Given the description of an element on the screen output the (x, y) to click on. 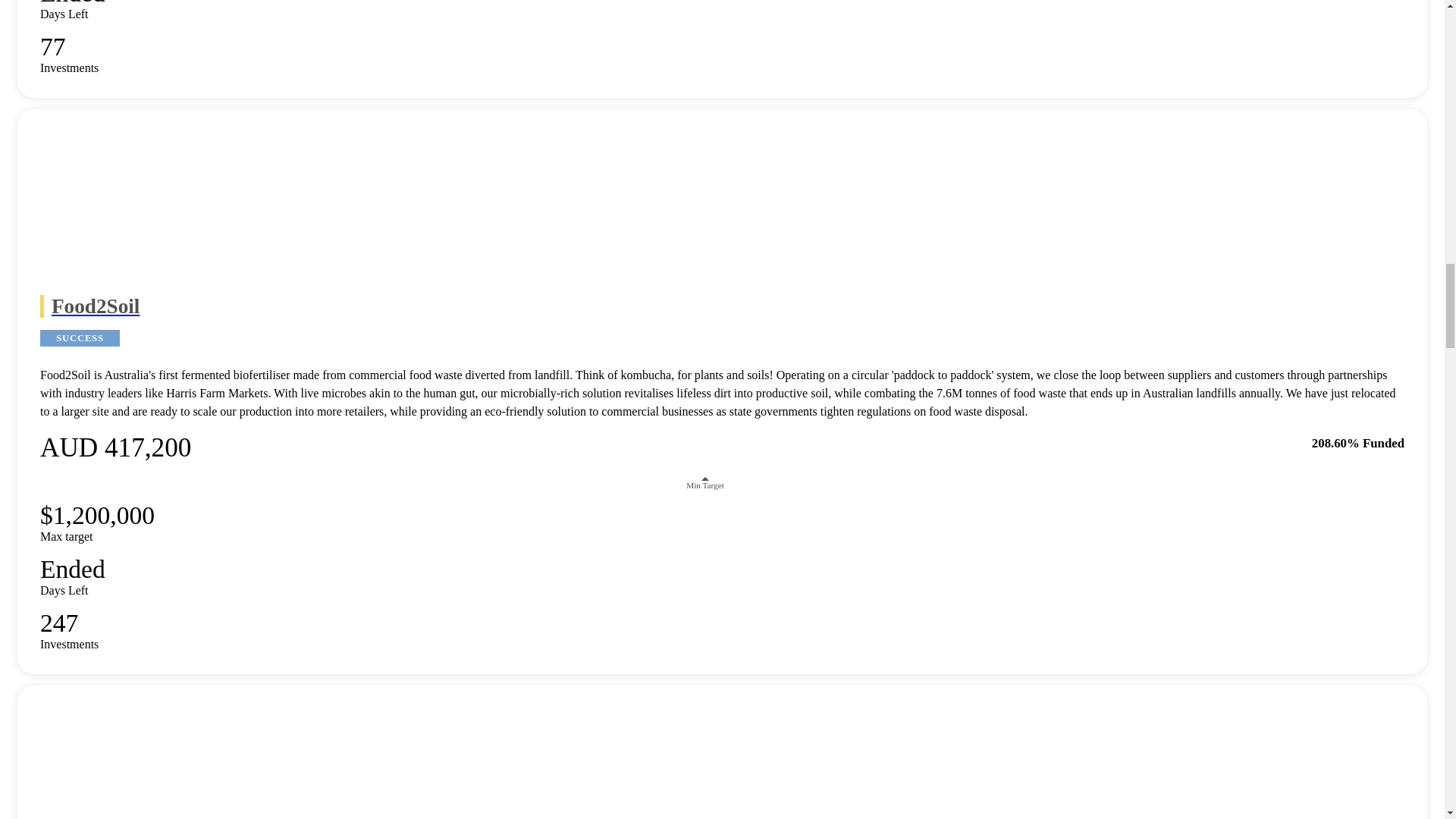
Food2Soil (722, 306)
